Given the description of an element on the screen output the (x, y) to click on. 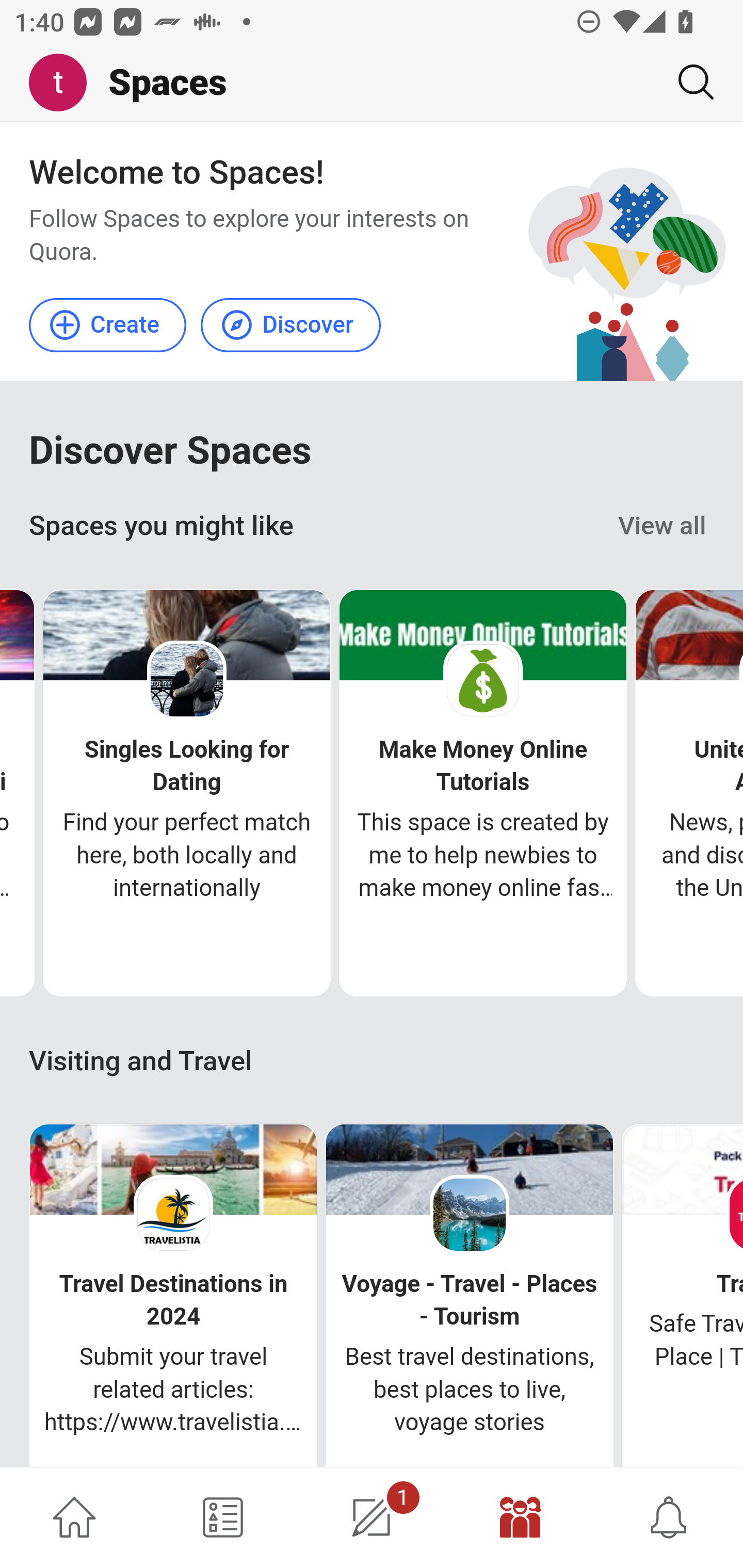
Me (64, 83)
Search (688, 82)
Create (107, 324)
Discover (289, 324)
View all (662, 525)
Singles Looking for Dating (186, 766)
Make Money Online Tutorials (482, 766)
Travel Destinations in 2024 (173, 1300)
Voyage - Travel - Places - Tourism (469, 1300)
1 (371, 1517)
